Given the description of an element on the screen output the (x, y) to click on. 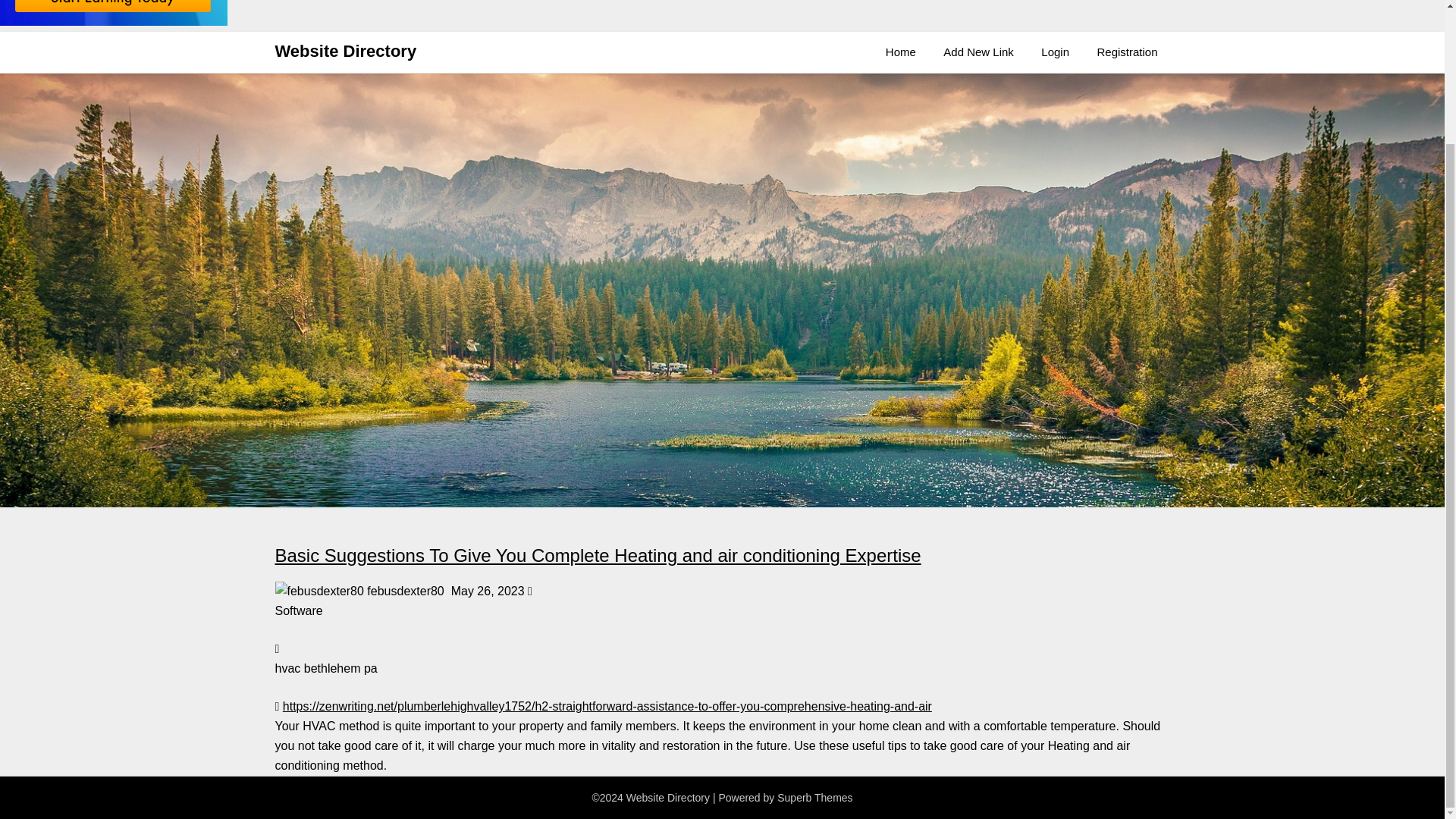
febusdexter80 (318, 591)
Registration (1126, 51)
Login (1055, 51)
Superb Themes (814, 797)
Website Directory (345, 51)
Home (900, 51)
Add New Link (978, 51)
